Given the description of an element on the screen output the (x, y) to click on. 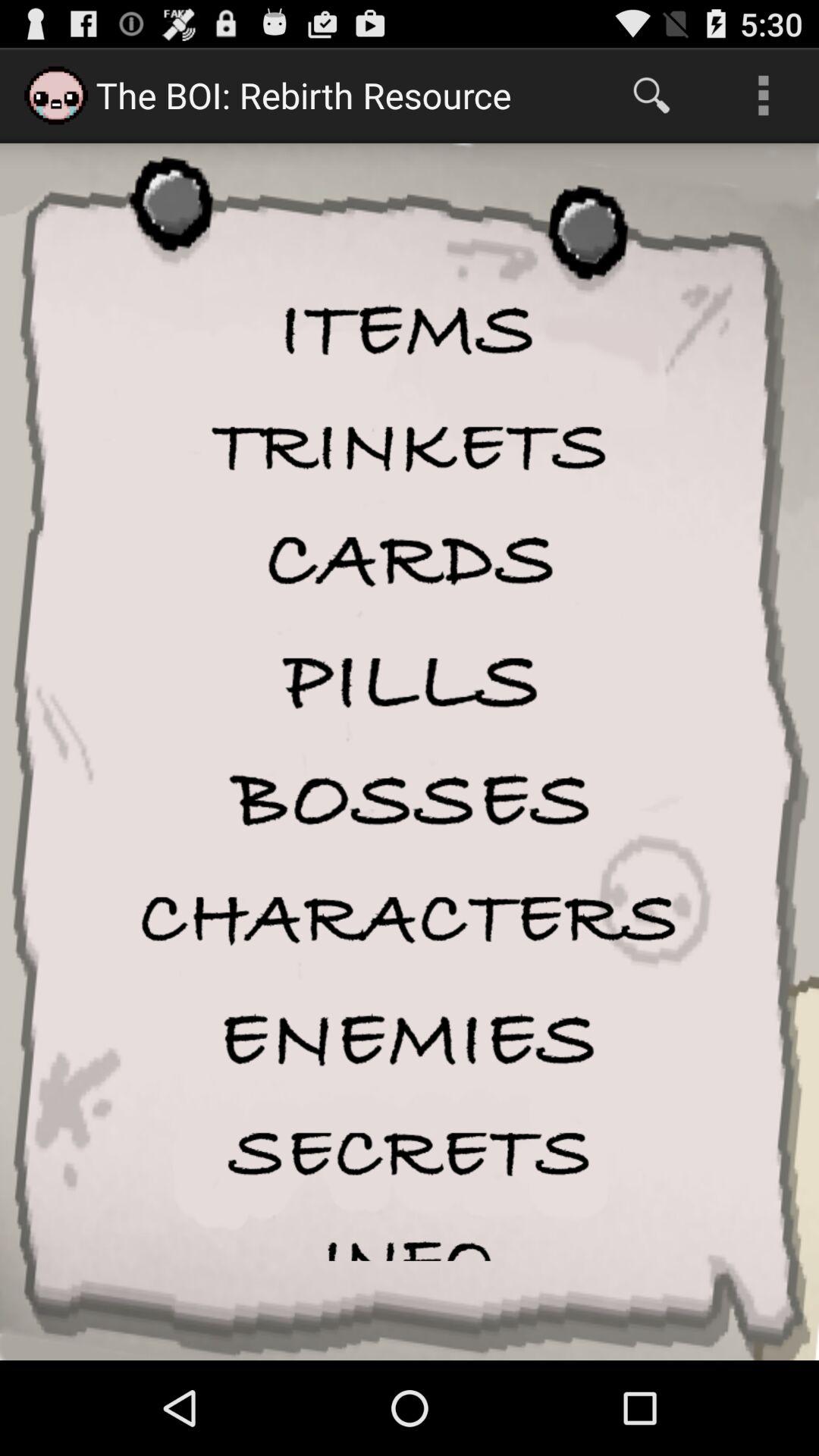
secrets (409, 1153)
